Given the description of an element on the screen output the (x, y) to click on. 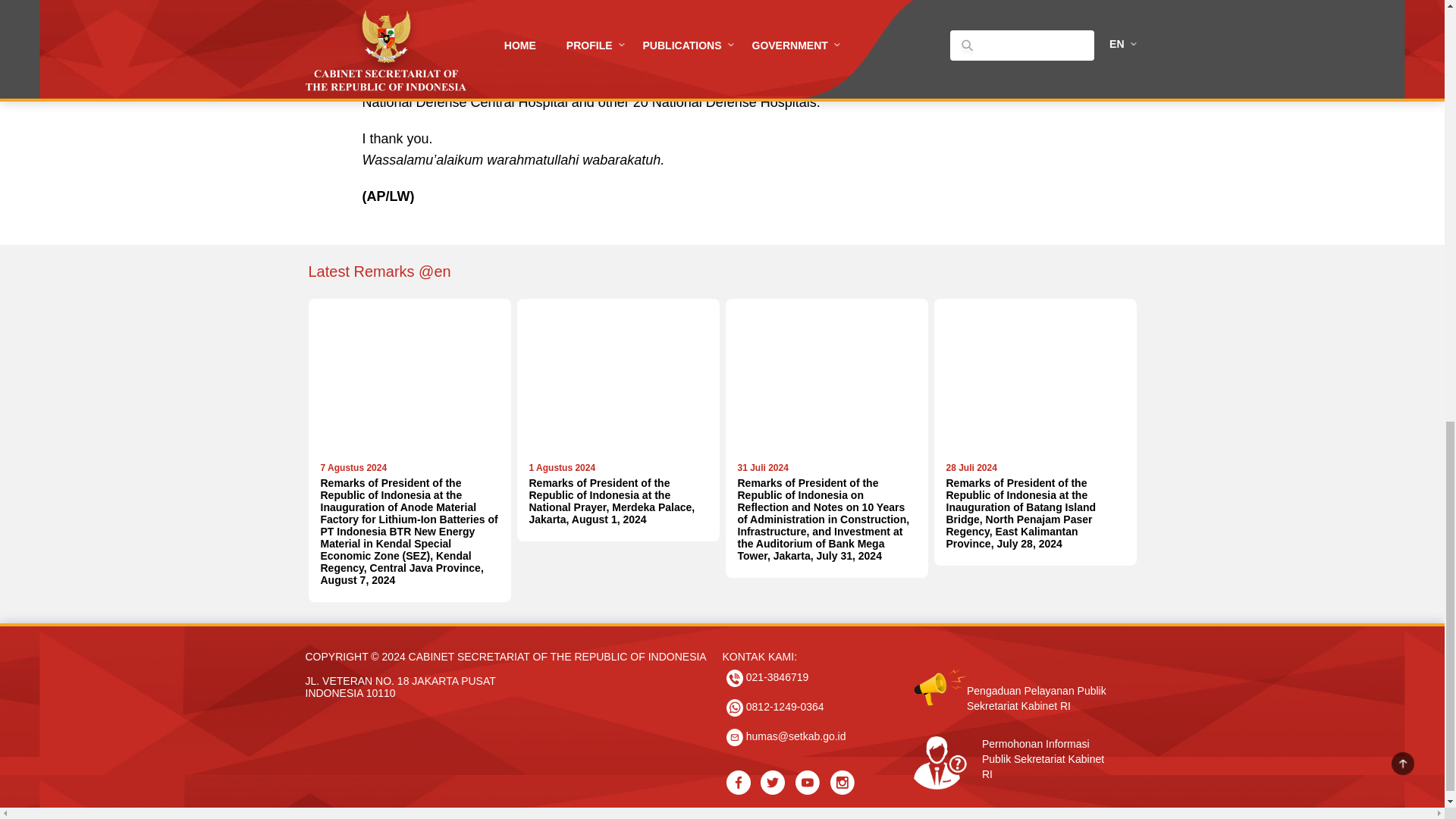
Pengaduan Pelayanan Publik Sekretariat Kabinet RI (1014, 677)
0812-1249-0364 (775, 708)
Permohonan Informasi Publik Sekretariat Kabinet RI (1014, 745)
021-3846719 (767, 678)
